Given the description of an element on the screen output the (x, y) to click on. 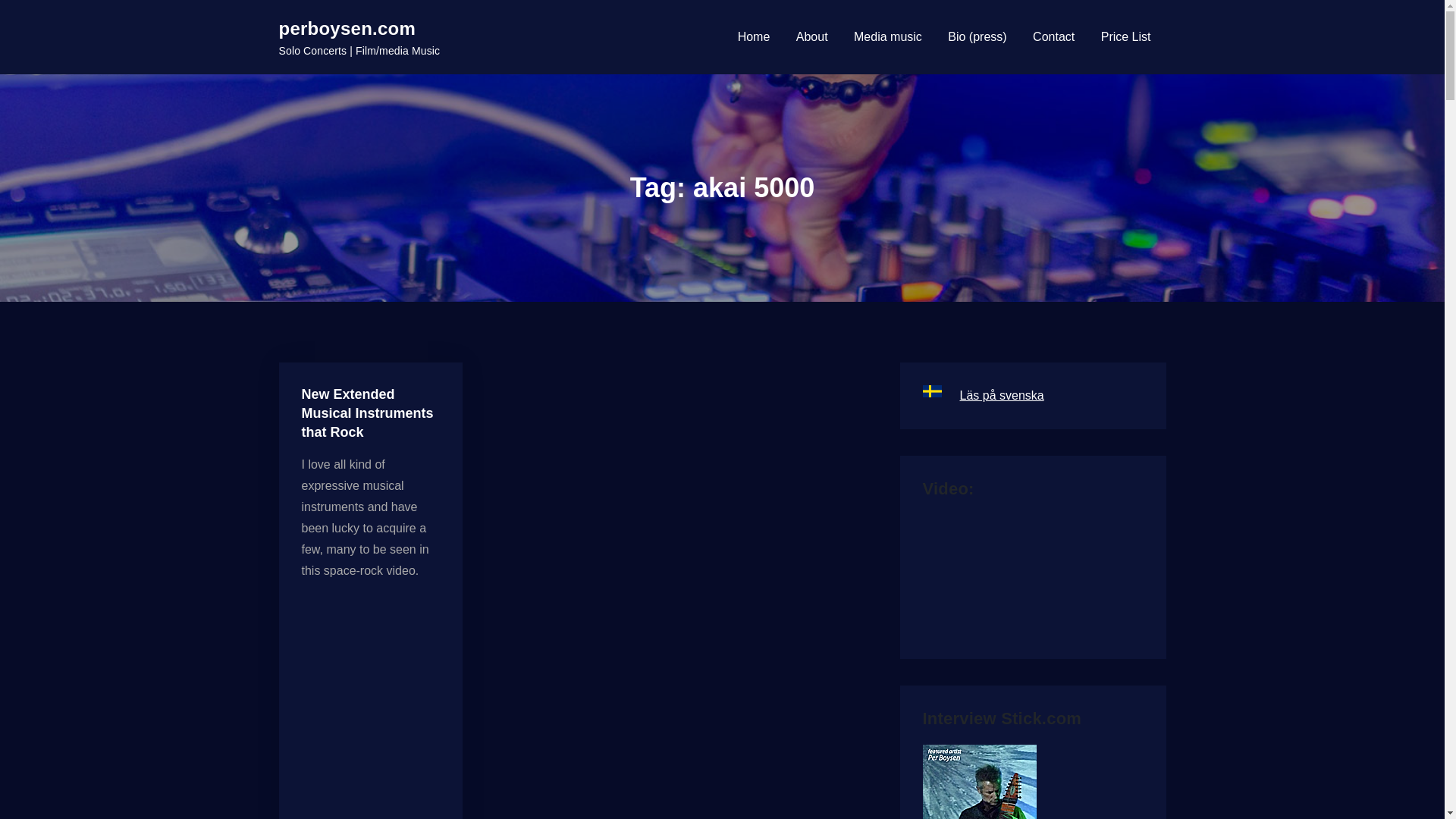
Home (754, 36)
New Extended Musical Instruments that Rock (367, 412)
Price List (1125, 36)
Contact (1053, 36)
perboysen.com (347, 28)
About (812, 36)
Media music (887, 36)
